Given the description of an element on the screen output the (x, y) to click on. 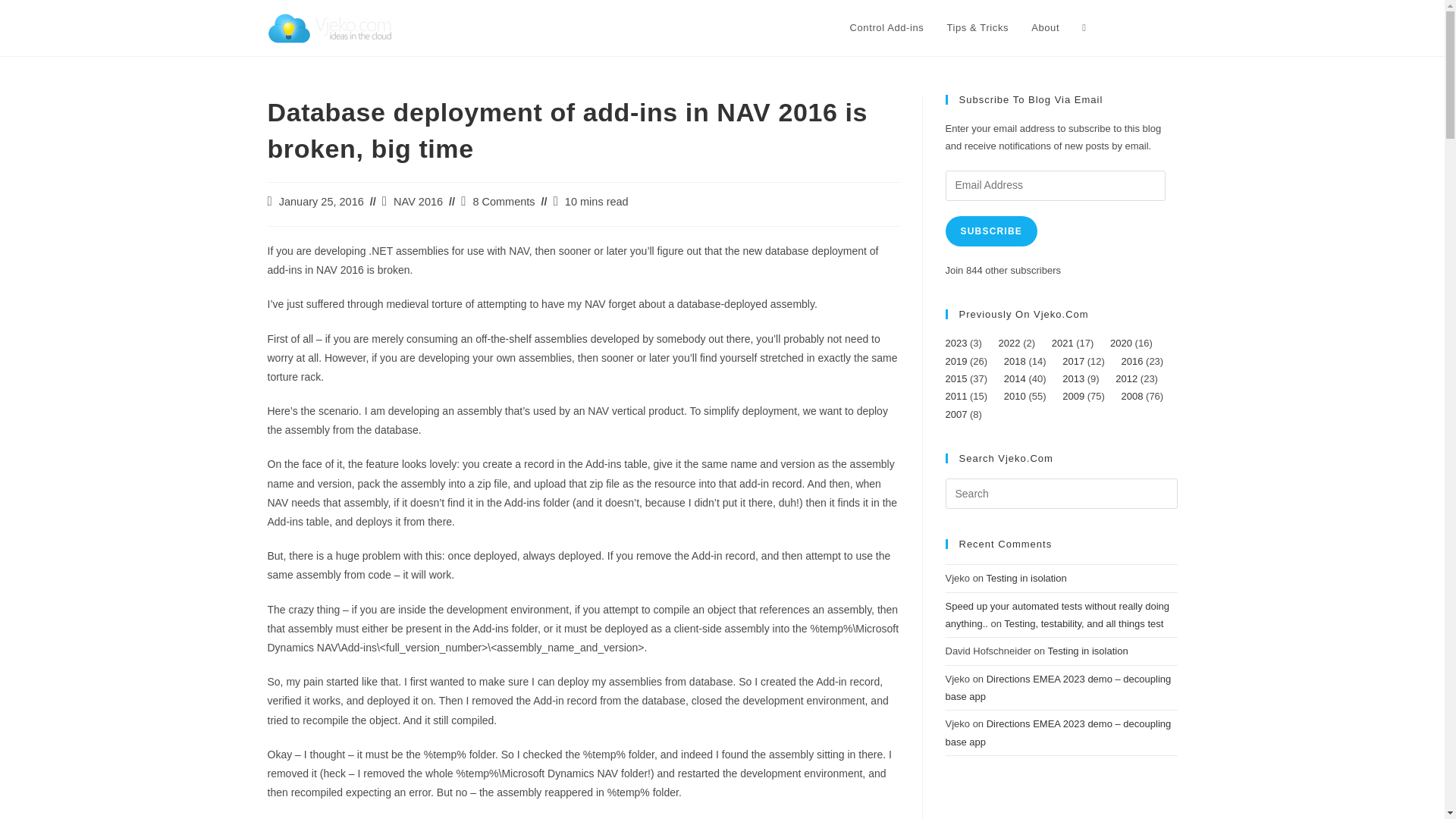
Toggle website search (1083, 28)
NAV 2016 (417, 201)
Control Add-ins (887, 28)
About (1045, 28)
8 Comments (502, 201)
